Given the description of an element on the screen output the (x, y) to click on. 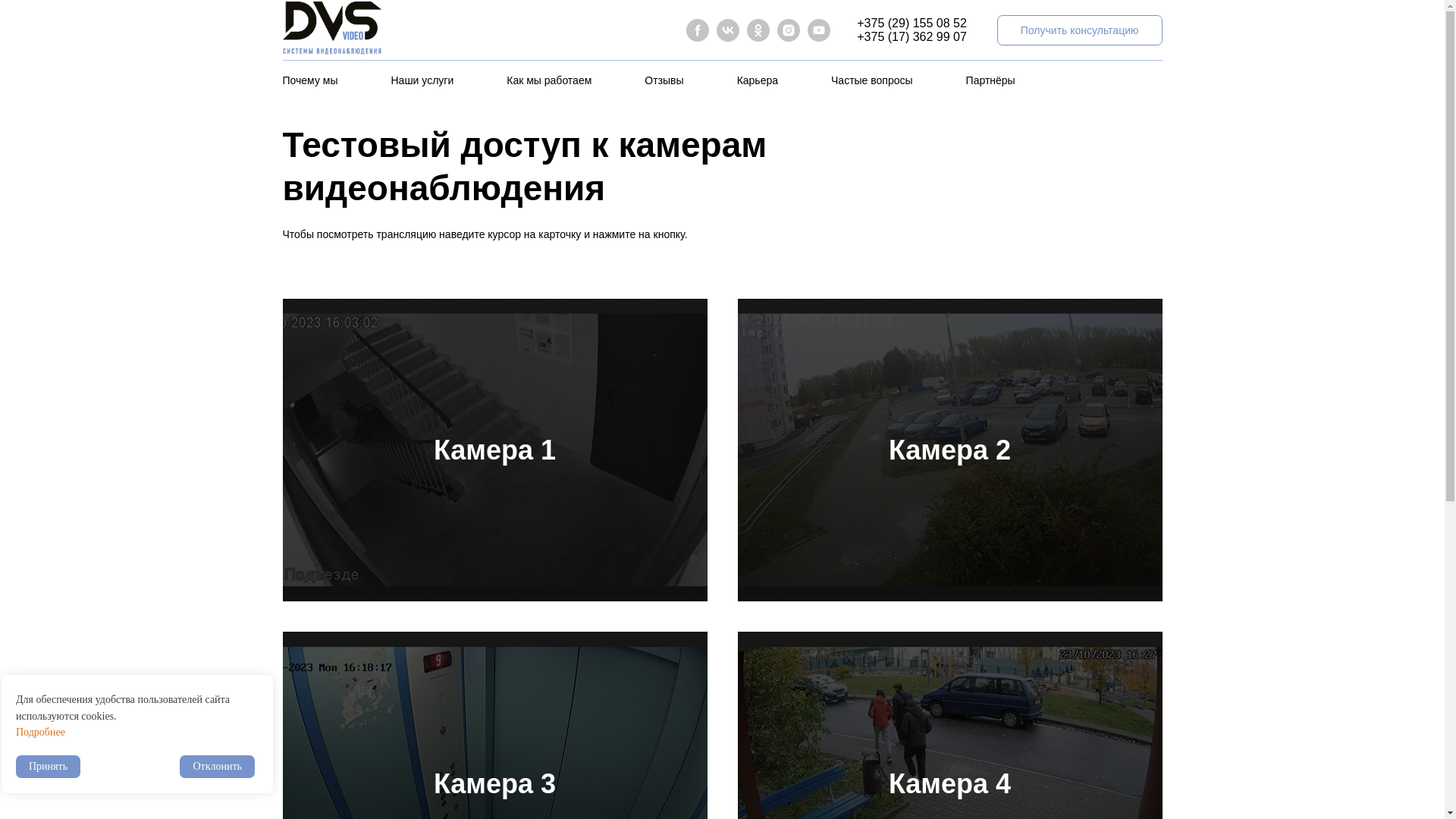
+375 (29) 155 08 52 Element type: text (911, 22)
+375 (17) 362 99 07 Element type: text (911, 36)
